Given the description of an element on the screen output the (x, y) to click on. 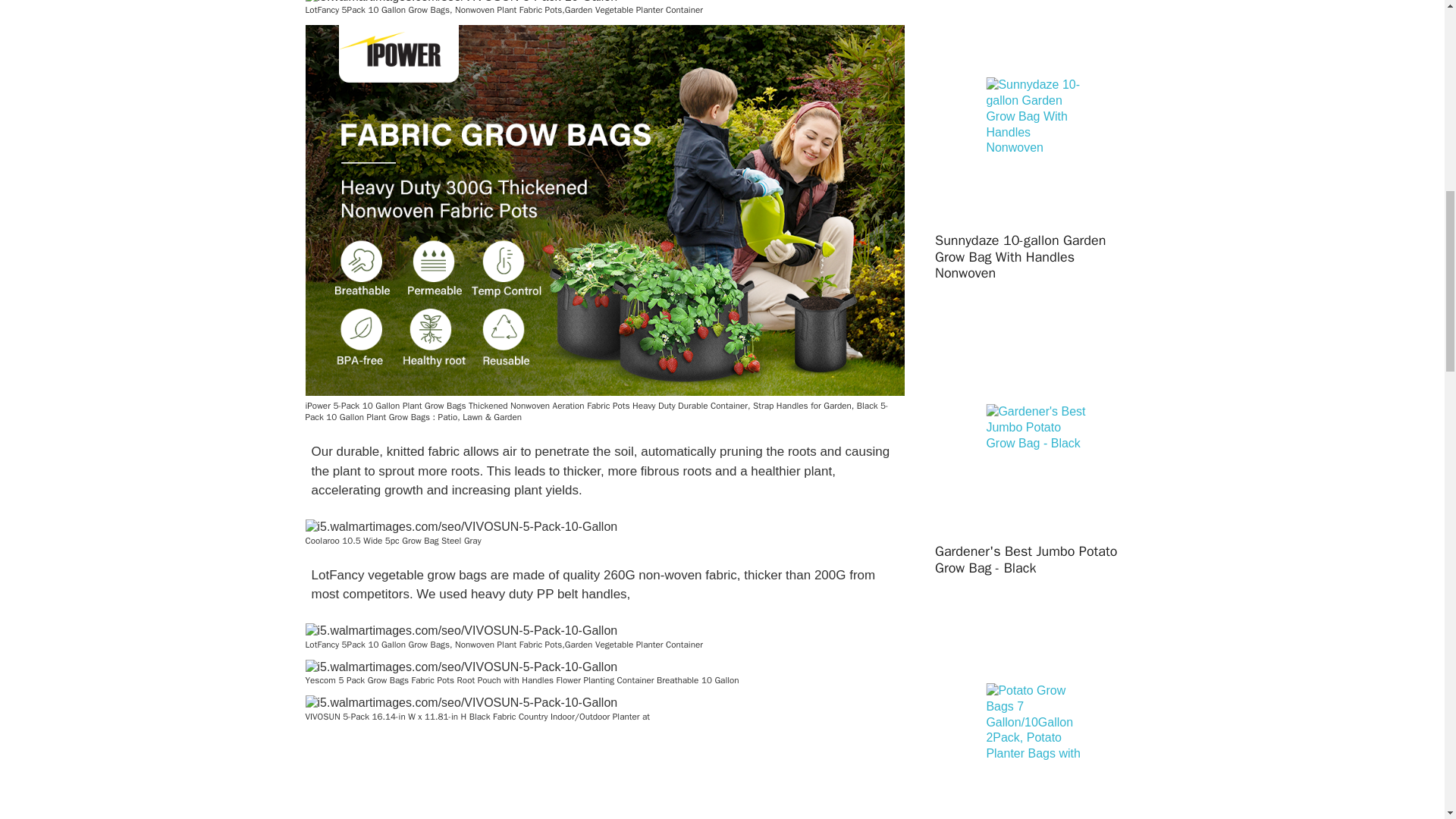
Gardener's Best Jumbo Potato Grow Bag - Black (1036, 427)
Sunnydaze 10-gallon Garden Grow Bag With Handles Nonwoven (1036, 116)
Gardener's Best Jumbo Potato Grow Bag - Black (1036, 559)
Sunnydaze 10-gallon Garden Grow Bag With Handles Nonwoven (1036, 256)
